Given the description of an element on the screen output the (x, y) to click on. 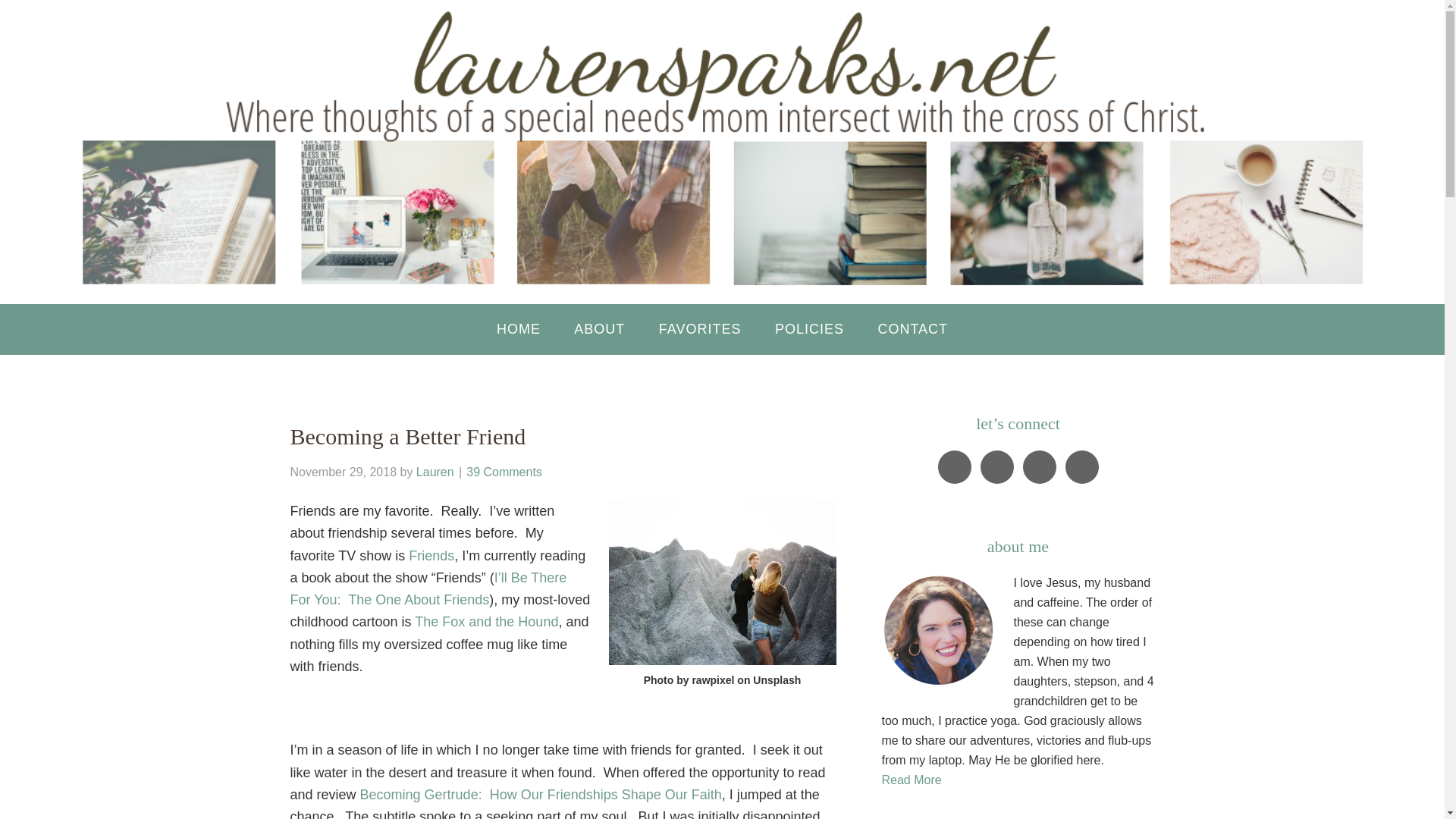
Lauren (435, 472)
HOME (518, 328)
Read More (910, 779)
Friends (431, 554)
POLICIES (809, 328)
FAVORITES (700, 328)
39 Comments (503, 472)
ABOUT (599, 328)
Becoming Gertrude:  How Our Friendships Shape Our Faith (540, 794)
The Fox and the Hound (485, 621)
